Given the description of an element on the screen output the (x, y) to click on. 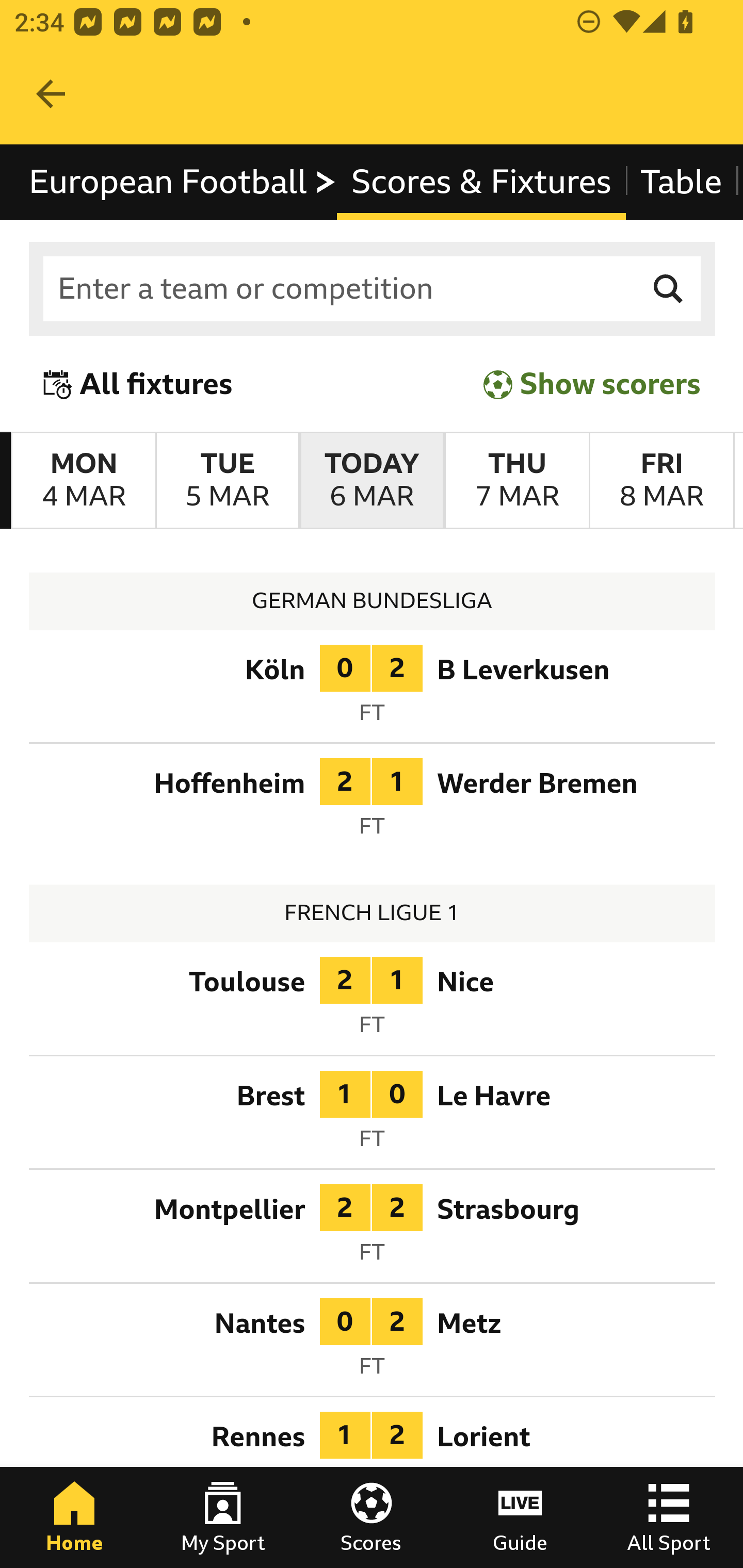
Navigate up (50, 93)
European Football  (182, 181)
Scores & Fixtures (480, 181)
Table (681, 181)
Search (669, 289)
All fixtures (137, 383)
Show scorers (591, 383)
MondayMarch 4th Monday March 4th (83, 480)
TuesdayMarch 5th Tuesday March 5th (227, 480)
TodayMarch 6th Today March 6th (371, 480)
ThursdayMarch 7th Thursday March 7th (516, 480)
FridayMarch 8th Friday March 8th (661, 480)
My Sport (222, 1517)
Scores (371, 1517)
Guide (519, 1517)
All Sport (668, 1517)
